Given the description of an element on the screen output the (x, y) to click on. 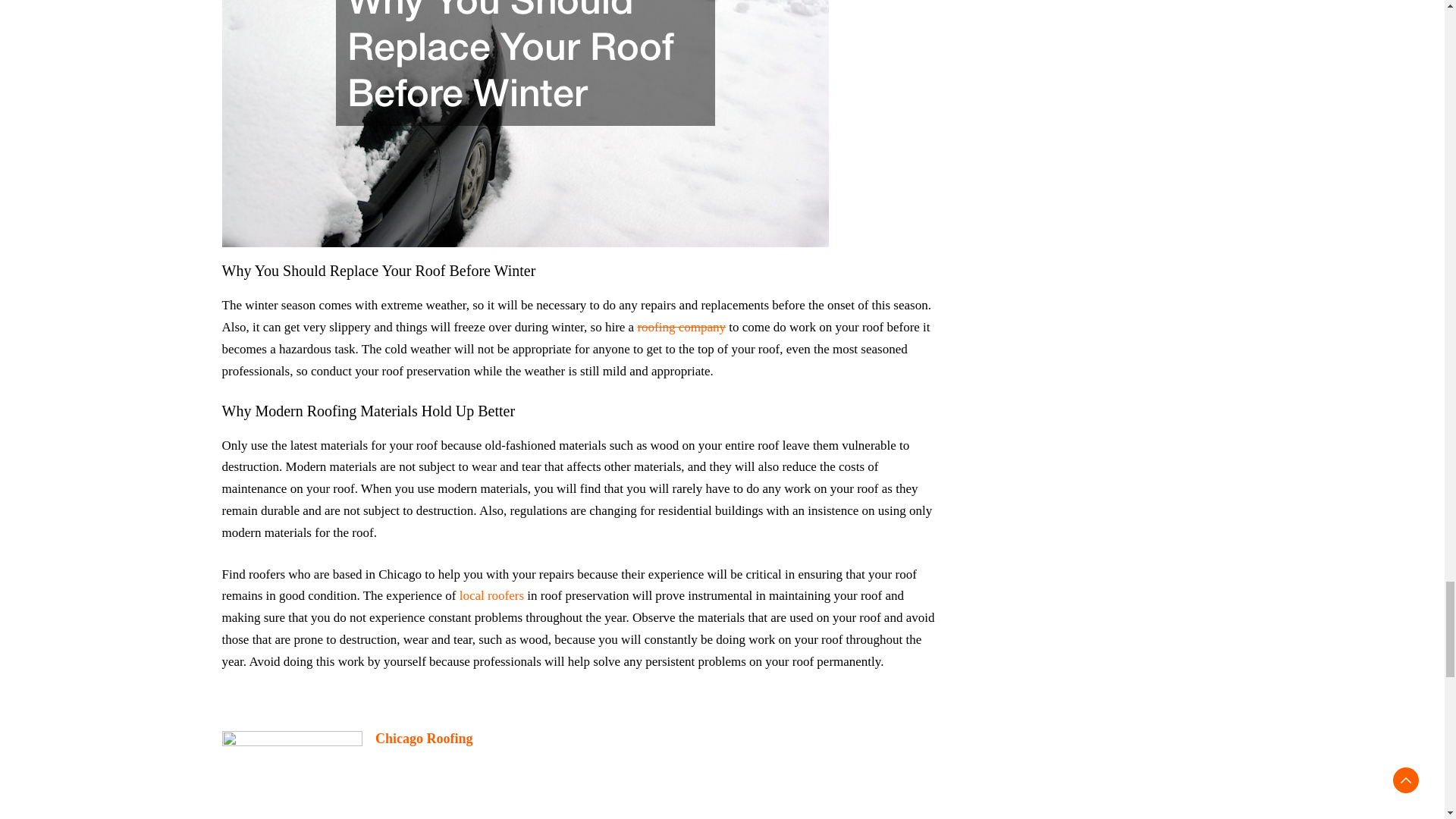
local roofers (492, 595)
Chicago Roofing (424, 738)
roofing company (681, 327)
